Given the description of an element on the screen output the (x, y) to click on. 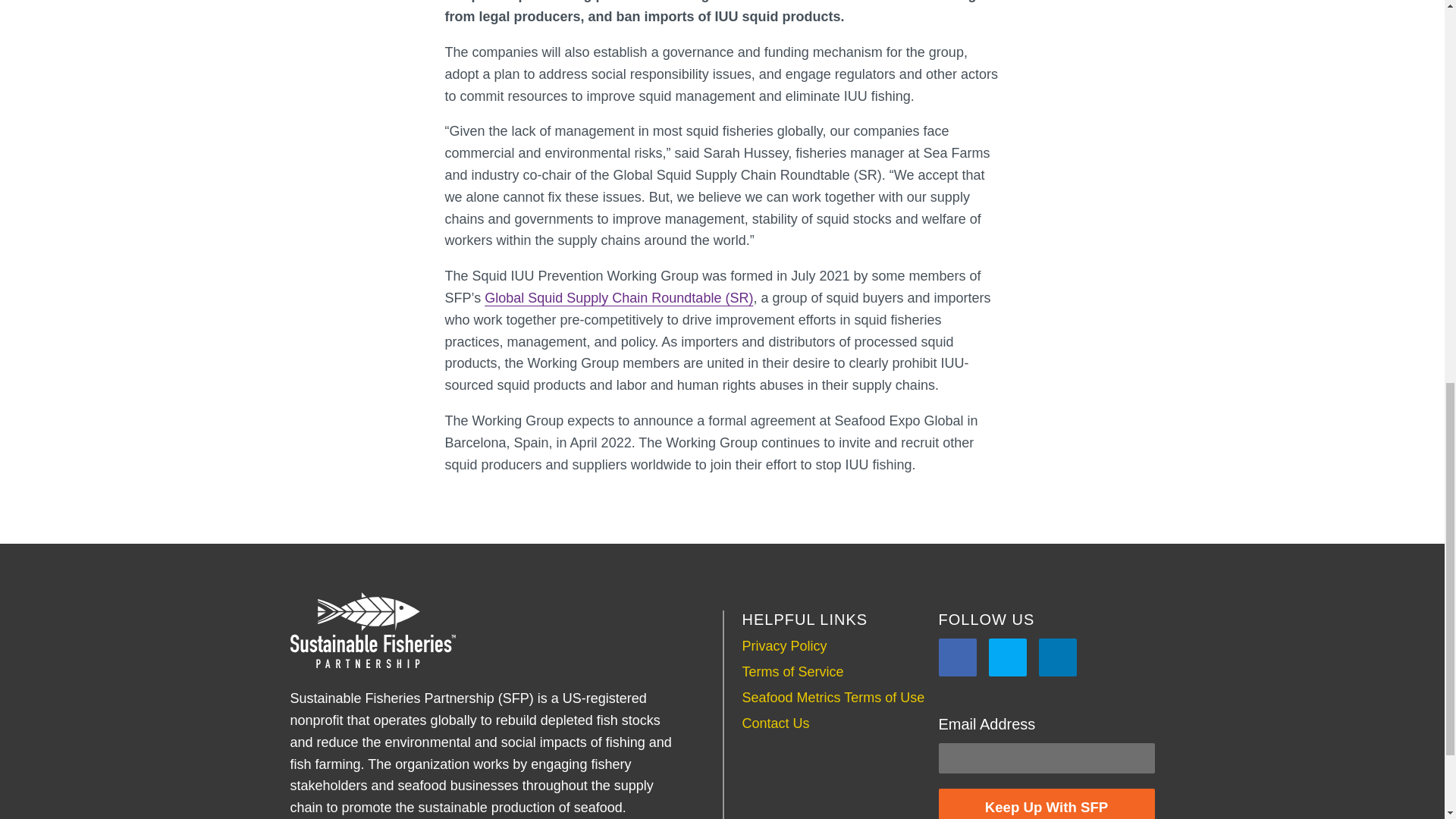
open LinkedIn in new window (1058, 657)
Keep Up With SFP (1046, 803)
open Twitter in new window (1007, 657)
open Facebook in new window (957, 657)
